Given the description of an element on the screen output the (x, y) to click on. 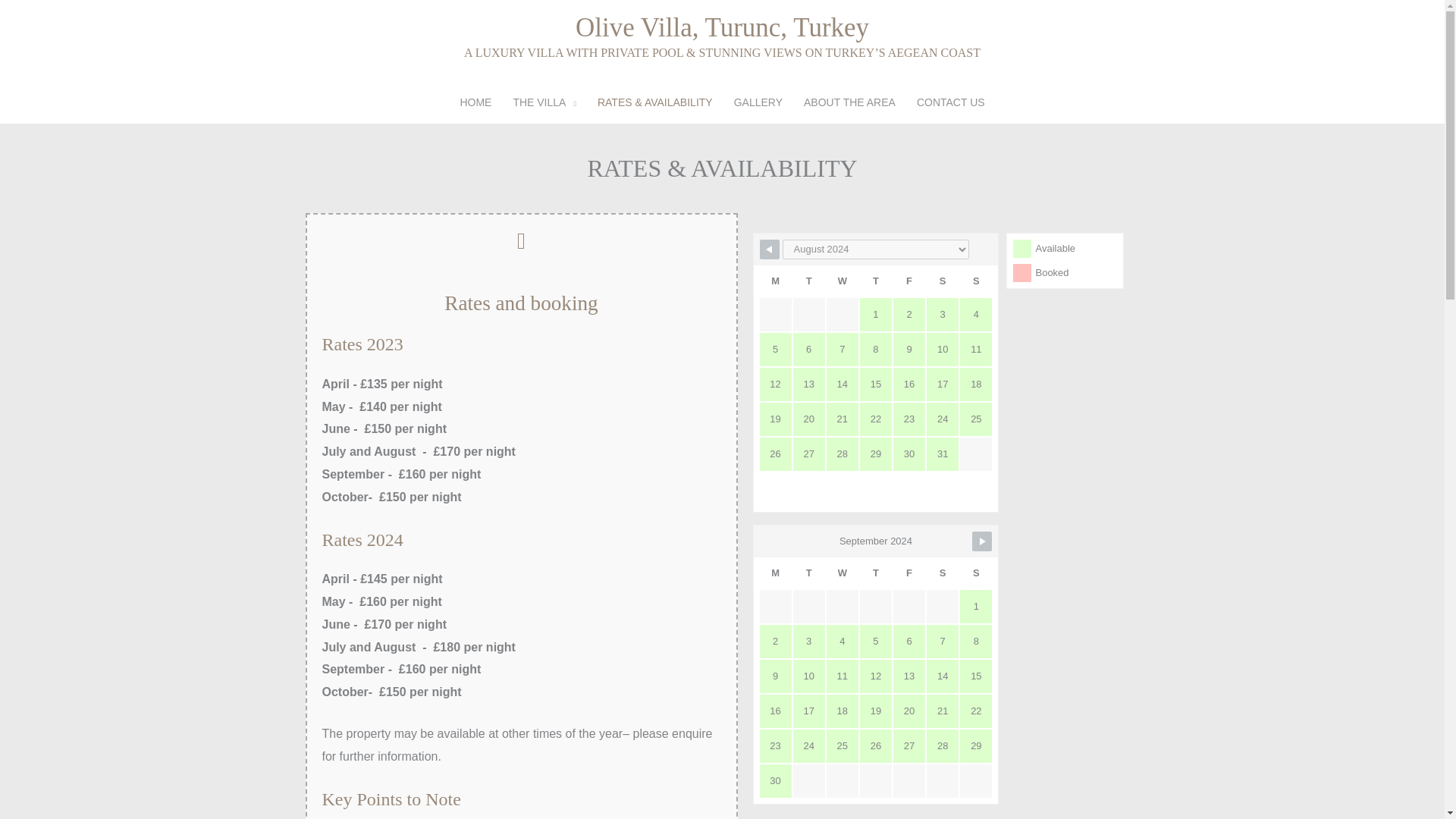
CONTACT US (950, 102)
THE VILLA (544, 102)
HOME (475, 102)
GALLERY (758, 102)
ABOUT THE AREA (849, 102)
Olive Villa, Turunc, Turkey (722, 27)
